Given the description of an element on the screen output the (x, y) to click on. 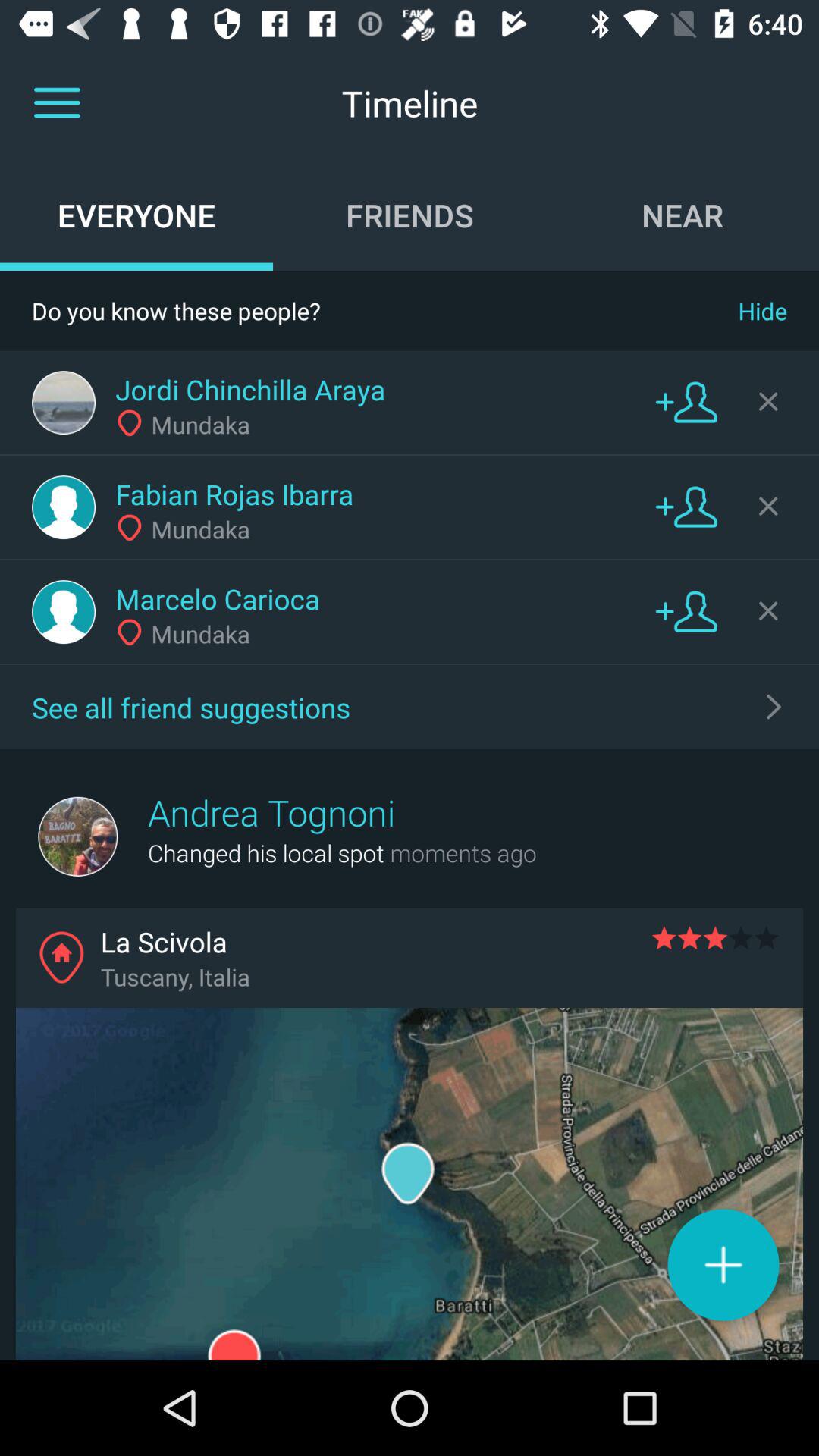
hide person (768, 505)
